Given the description of an element on the screen output the (x, y) to click on. 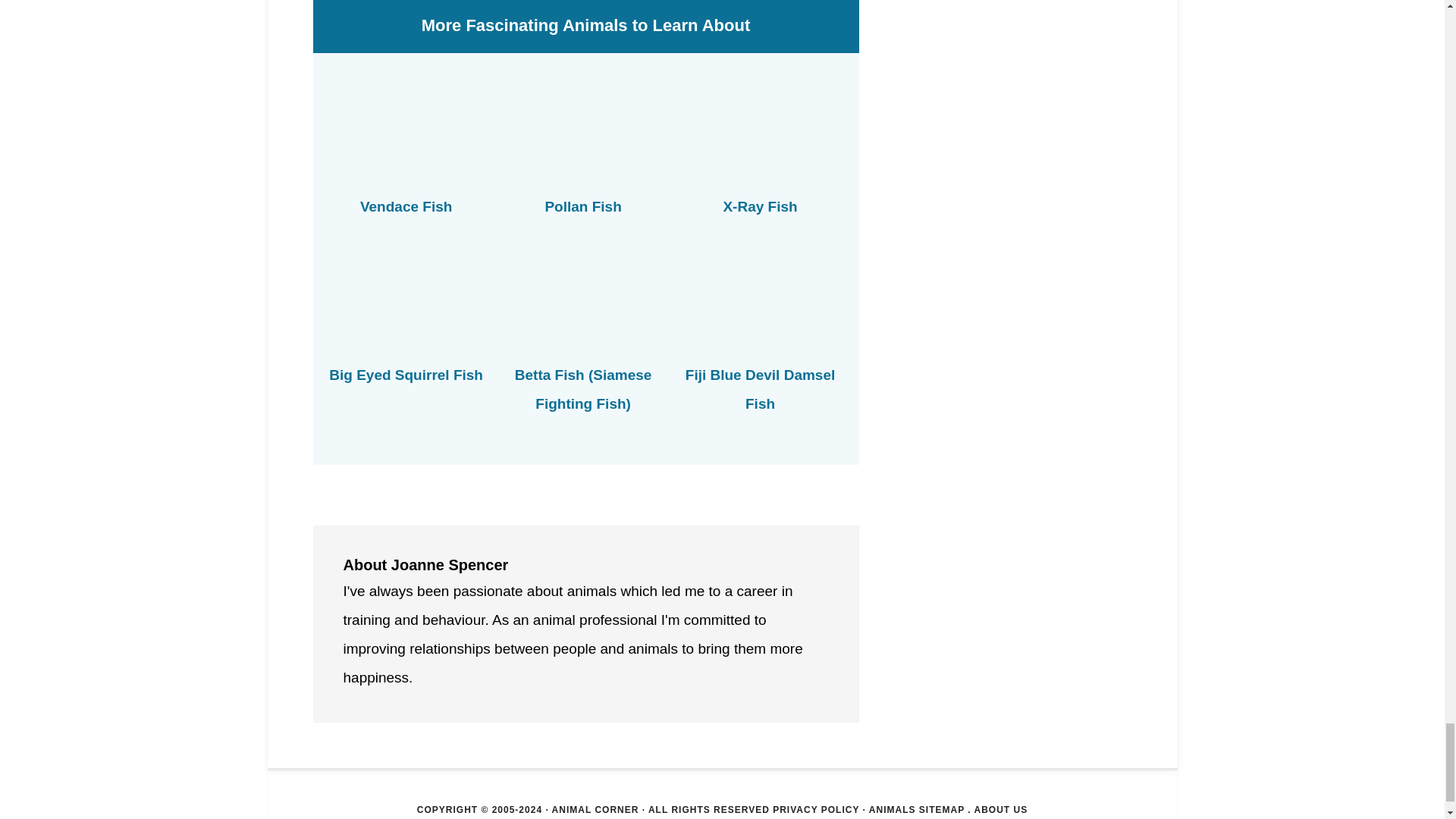
Vendace Fish (405, 206)
Pollan Fish (582, 206)
